Given the description of an element on the screen output the (x, y) to click on. 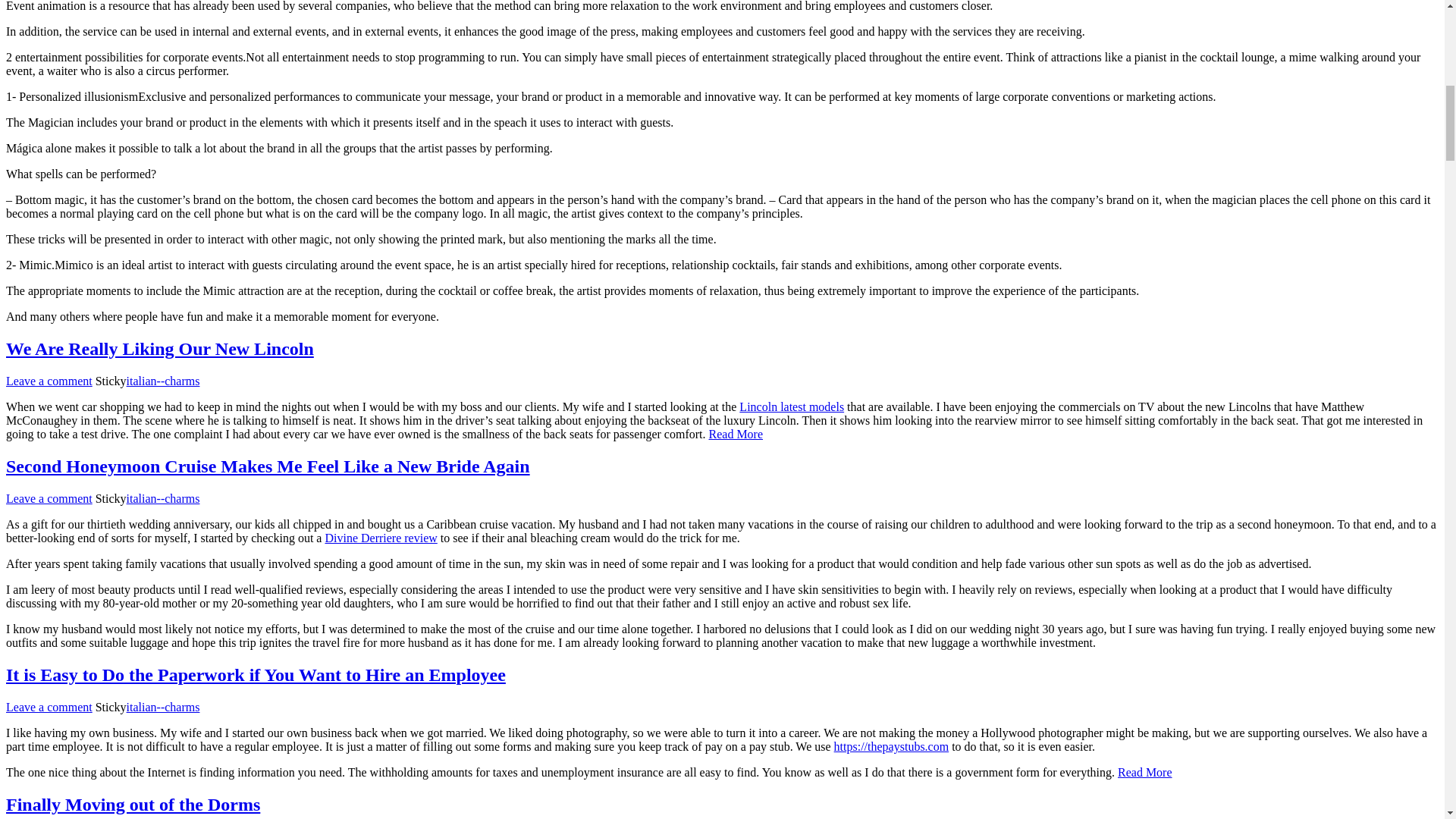
Read More (1145, 771)
italian--charms (163, 498)
Divine Derriere review (380, 537)
Leave a comment (49, 498)
italian--charms (163, 380)
Lincoln latest models (791, 406)
View all posts by italian--charms (163, 707)
View all posts by italian--charms (163, 498)
Leave a comment (49, 380)
Read More (734, 433)
italian--charms (163, 707)
Second Honeymoon Cruise Makes Me Feel Like a New Bride Again (267, 465)
Leave a comment (49, 707)
View all posts by italian--charms (163, 380)
